Given the description of an element on the screen output the (x, y) to click on. 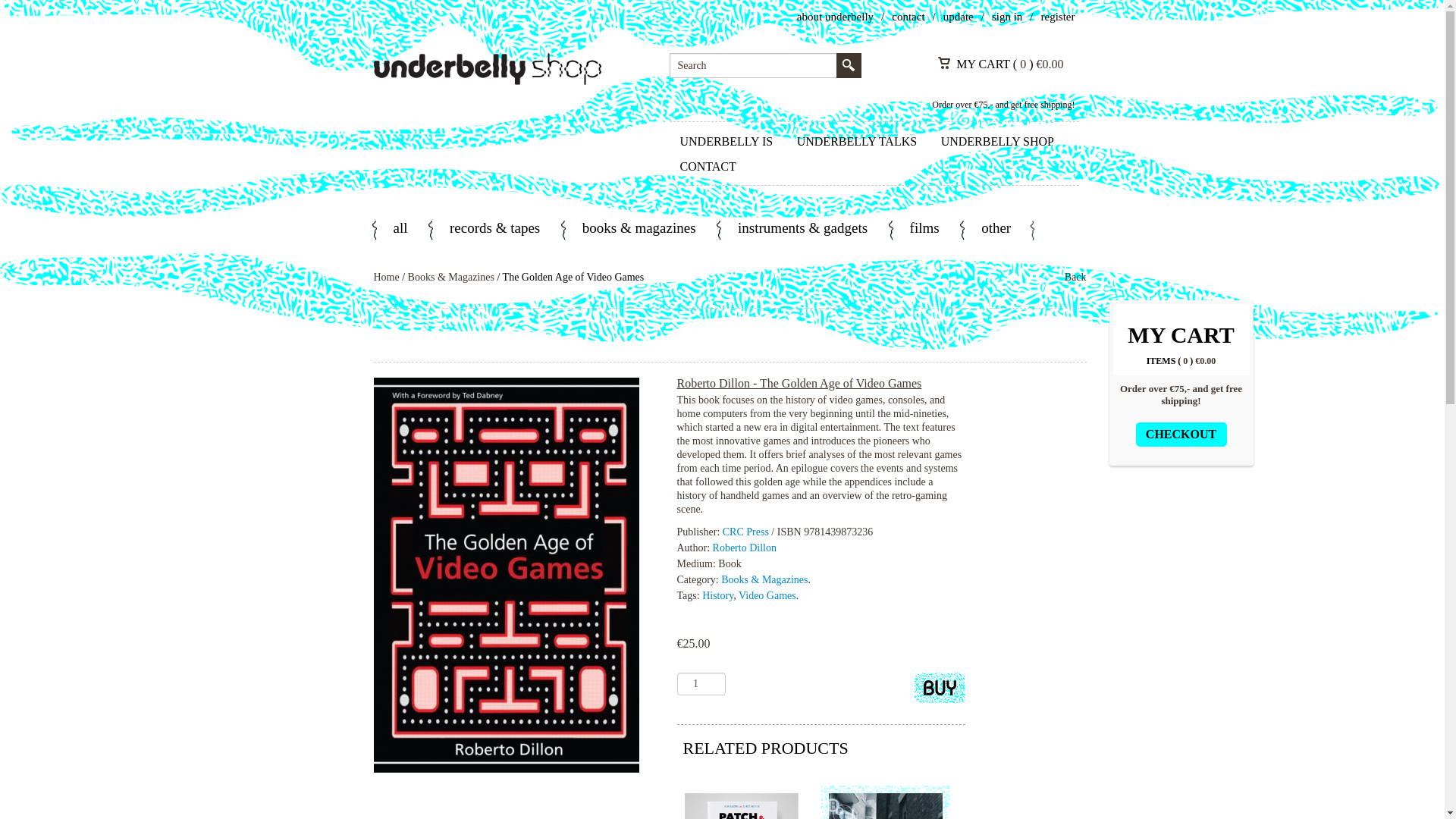
CHECKOUT (1181, 434)
Back (1075, 277)
History (717, 595)
Roberto Dillon (744, 547)
about underbelly (834, 16)
Qty (701, 683)
CRC Press (746, 531)
films (924, 229)
contact (907, 16)
CONTACT (706, 166)
